Given the description of an element on the screen output the (x, y) to click on. 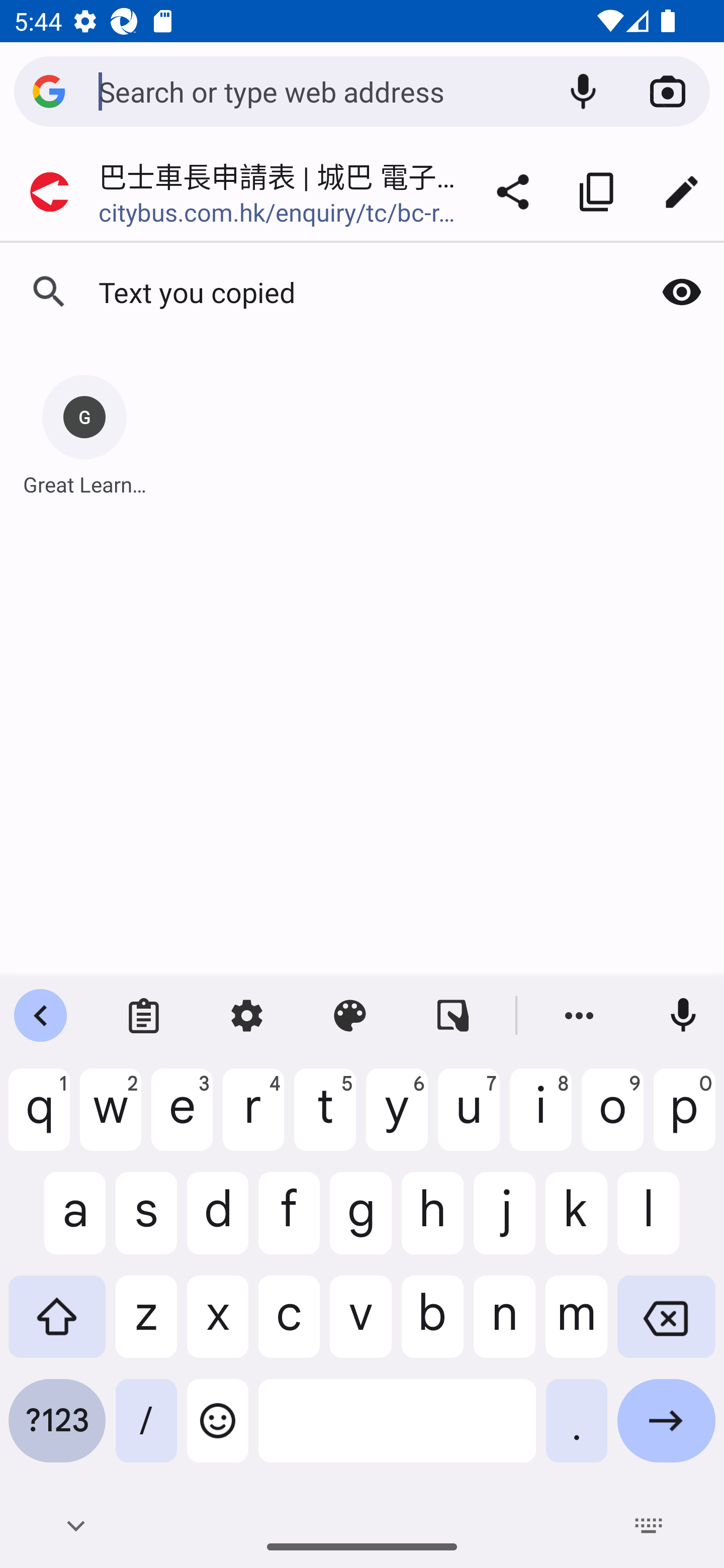
Start voice search (582, 91)
Search with your camera using Google Lens (667, 91)
Search or type web address (319, 90)
Share… (512, 192)
Copy link (597, 192)
Edit (681, 192)
Text you copied (319, 292)
Show clipboard contents (681, 292)
